Given the description of an element on the screen output the (x, y) to click on. 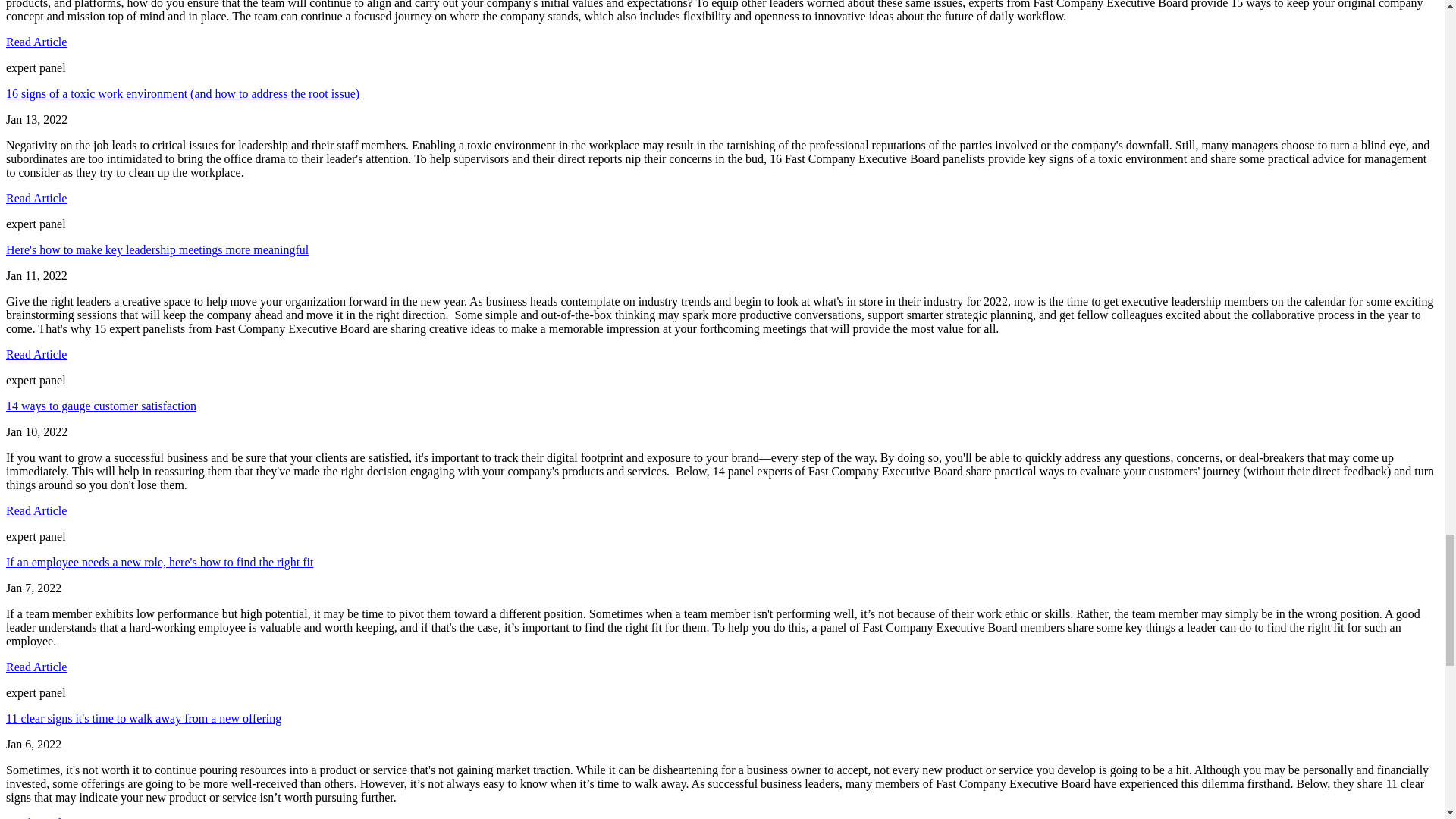
Read Article (35, 817)
Here's how to make key leadership meetings more meaningful (156, 249)
Read Article (35, 197)
Read Article (35, 42)
14 ways to gauge customer satisfaction (100, 405)
Read Article (35, 666)
Read Article (35, 354)
11 clear signs it's time to walk away from a new offering (143, 717)
Read Article (35, 510)
